Given the description of an element on the screen output the (x, y) to click on. 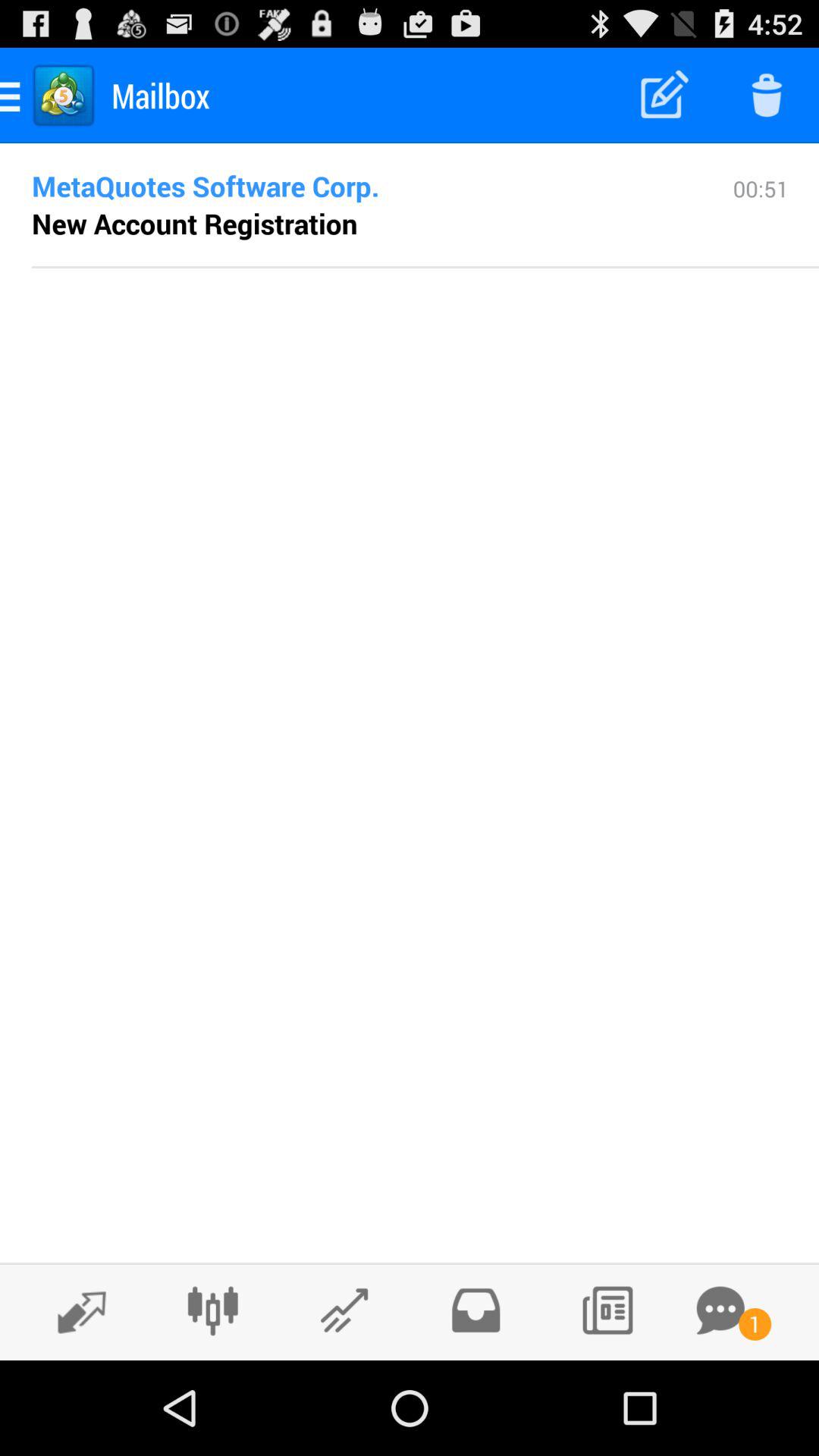
jump until metaquotes software corp. item (358, 185)
